Given the description of an element on the screen output the (x, y) to click on. 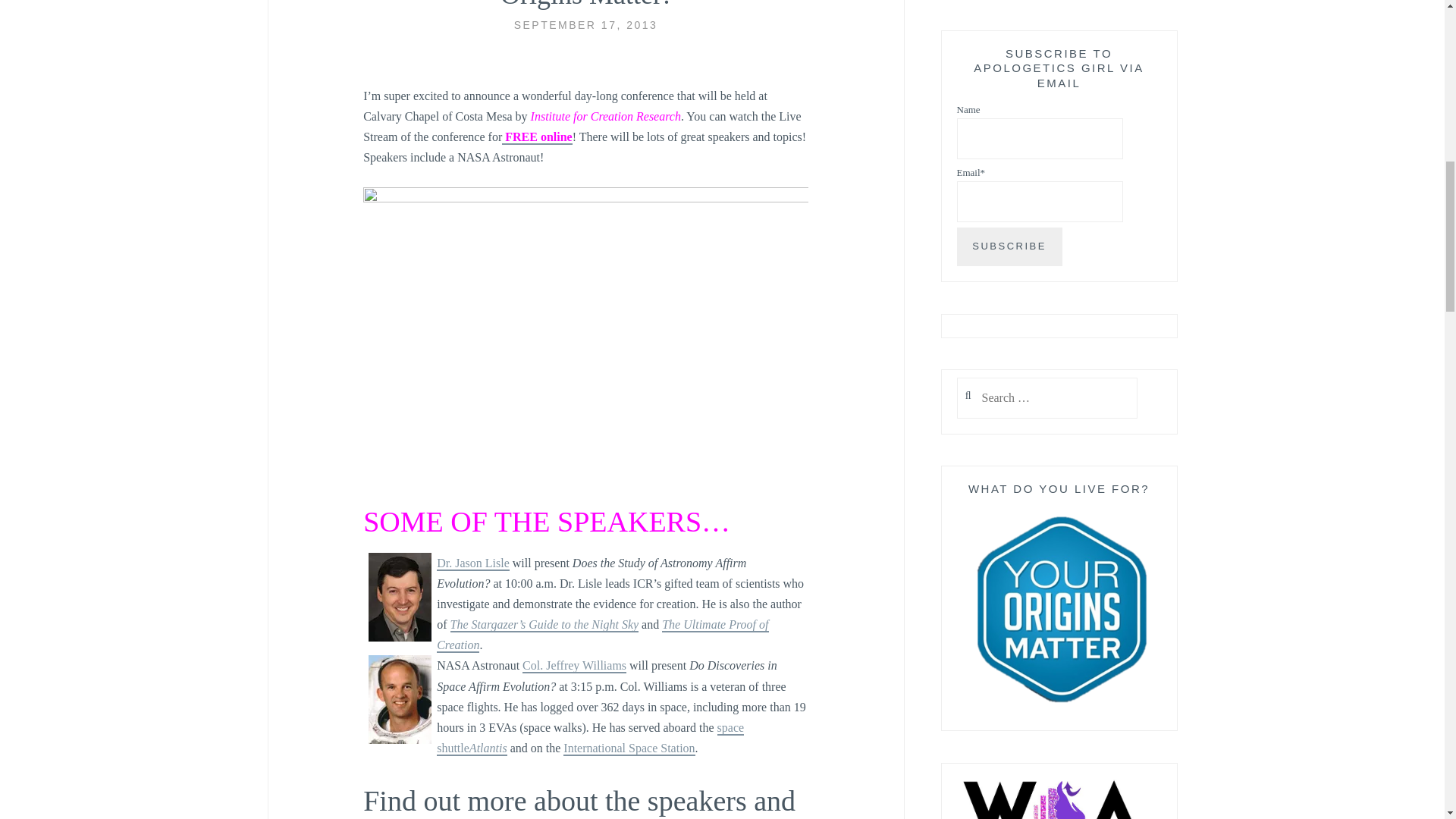
The Ultimate Proof of Creation (602, 635)
Dr. Jason Lisle (472, 563)
FREE online (537, 137)
space shuttleAtlantis (590, 738)
Subscribe (1009, 246)
International Space Station (628, 748)
Col. Jeffrey Williams (574, 666)
